Given the description of an element on the screen output the (x, y) to click on. 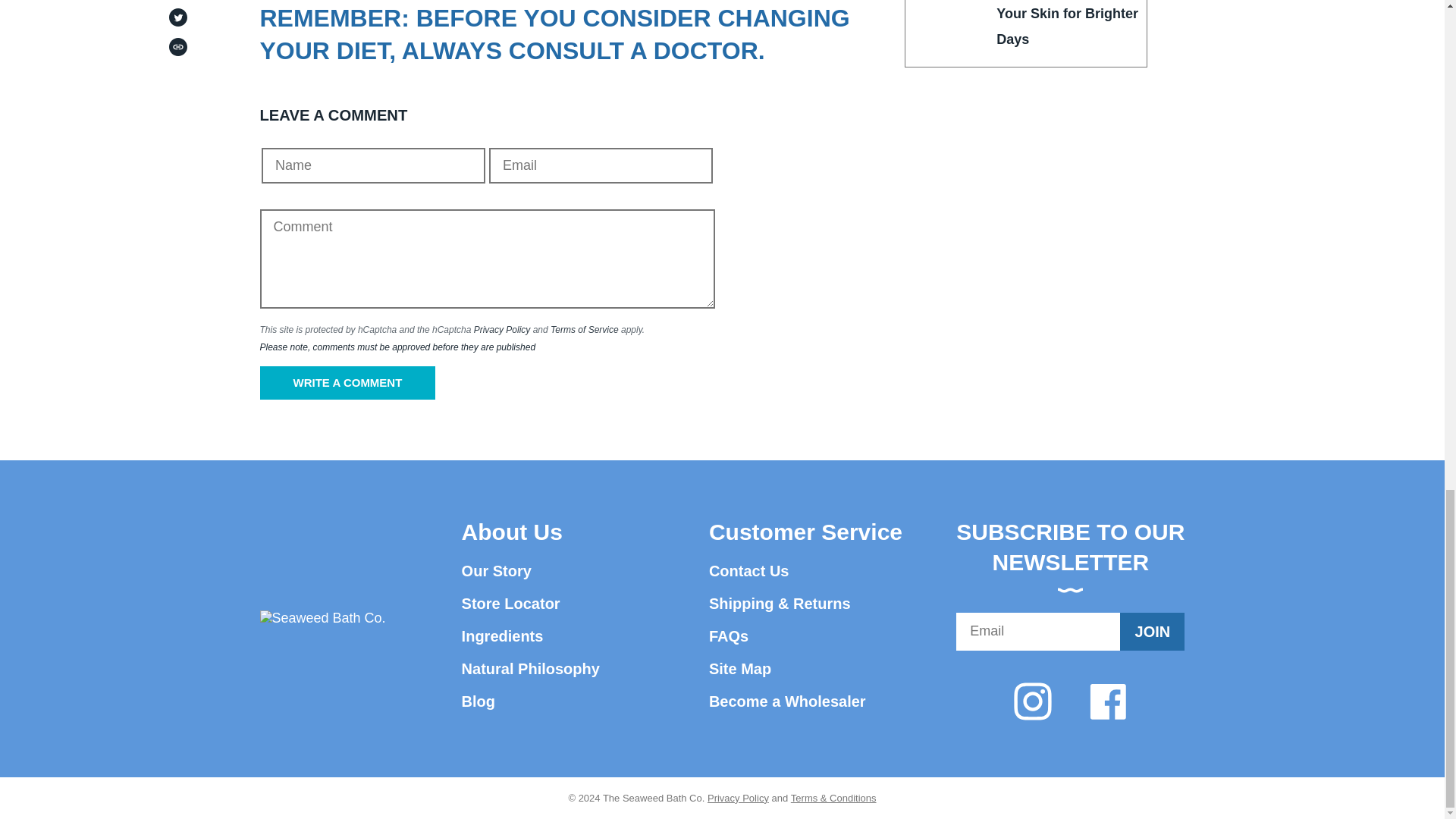
The Seaweed Bath Co. on Facebook (1107, 700)
The Seaweed Bath Co. on Instagram (1032, 700)
Write a comment (347, 382)
